Given the description of an element on the screen output the (x, y) to click on. 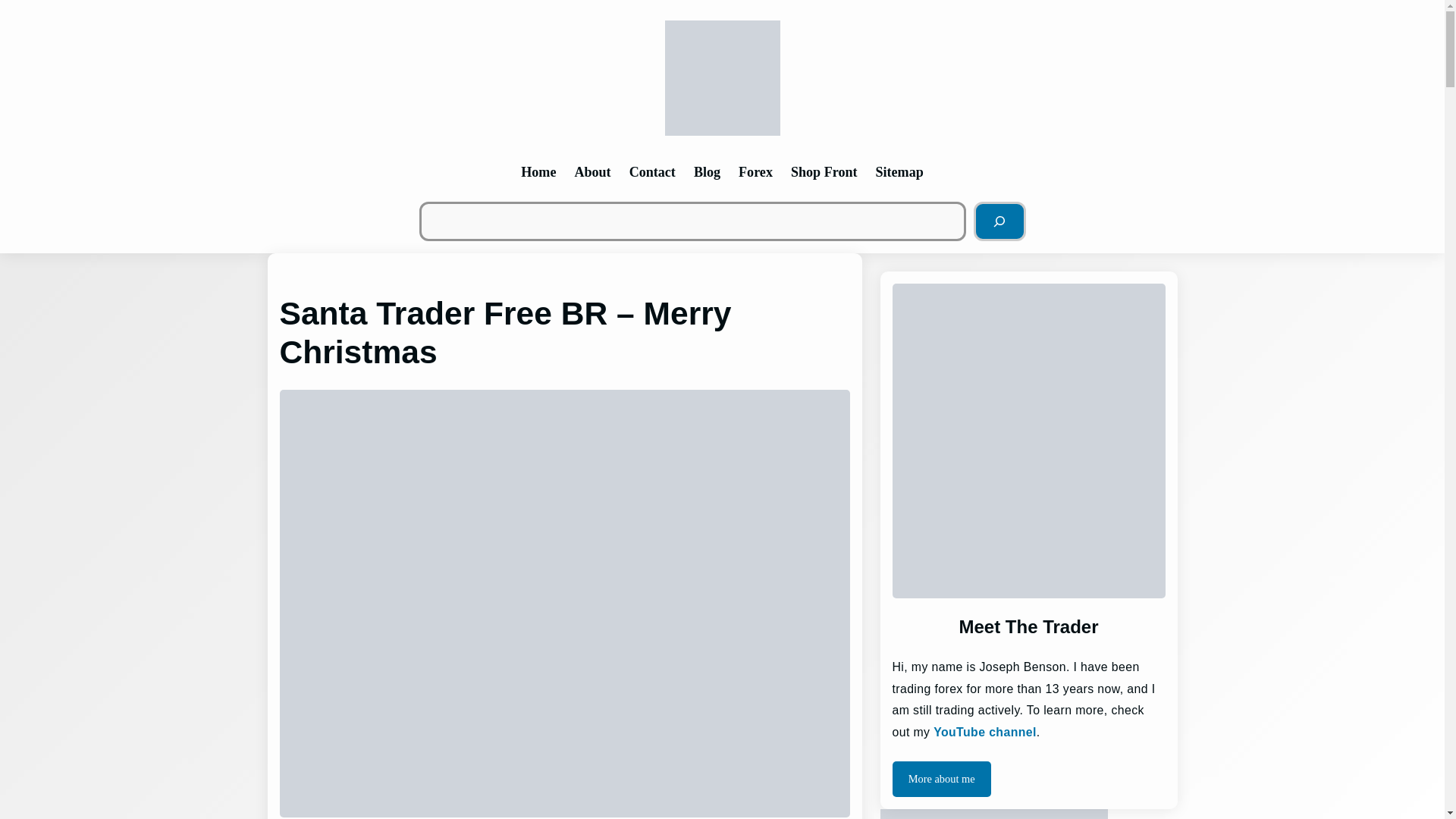
Blog (707, 172)
Contact (651, 172)
More about me (940, 778)
Shop Front (823, 172)
Forex (755, 172)
Sitemap (899, 172)
YouTube channel (984, 731)
Home (538, 172)
About (591, 172)
